Given the description of an element on the screen output the (x, y) to click on. 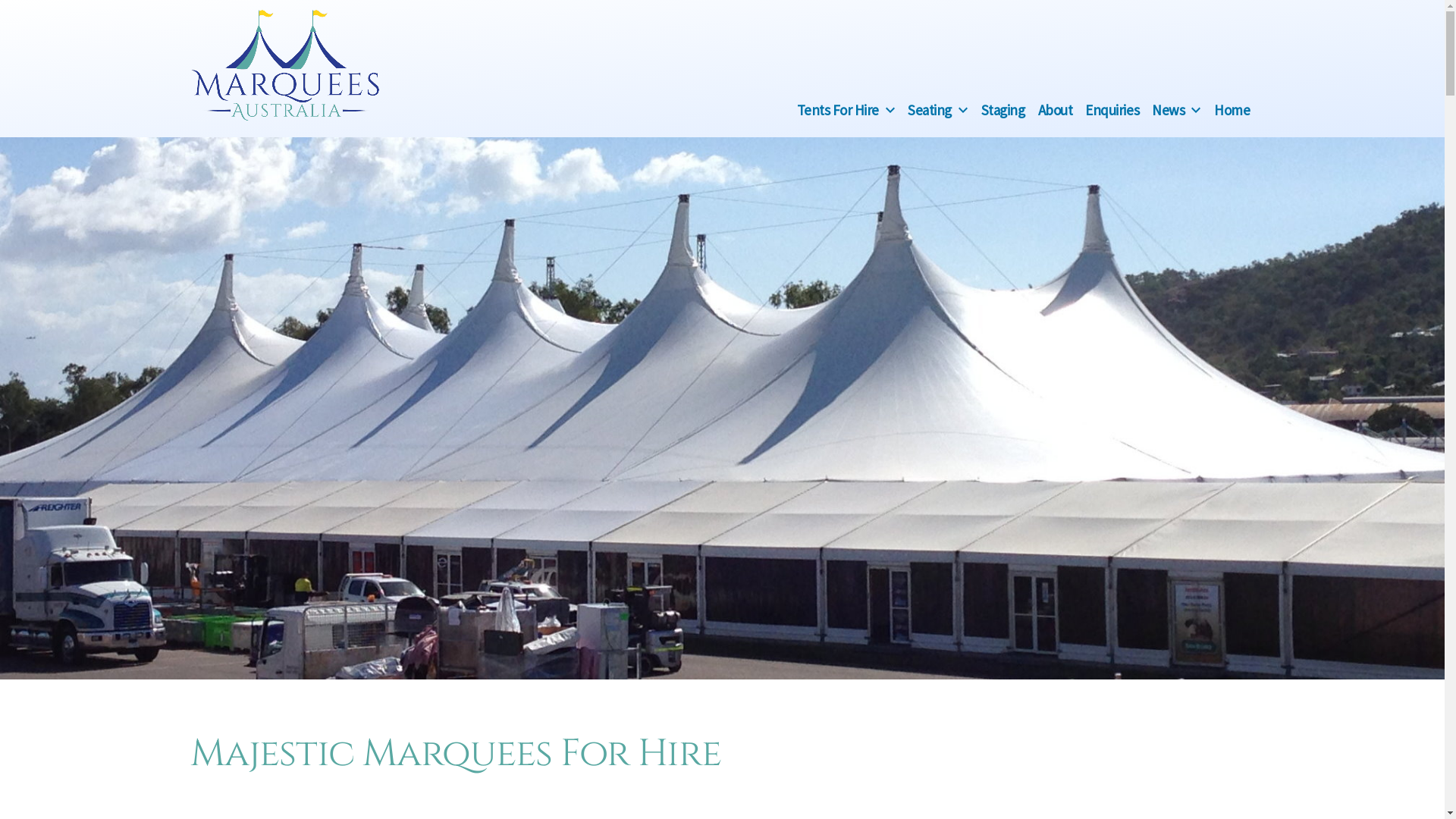
About Element type: text (1055, 109)
Seating Element type: text (929, 109)
News Element type: text (1167, 109)
Home Element type: text (1231, 109)
Tents For Hire Element type: text (837, 109)
Enquiries Element type: text (1112, 109)
Staging Element type: text (1003, 109)
